Given the description of an element on the screen output the (x, y) to click on. 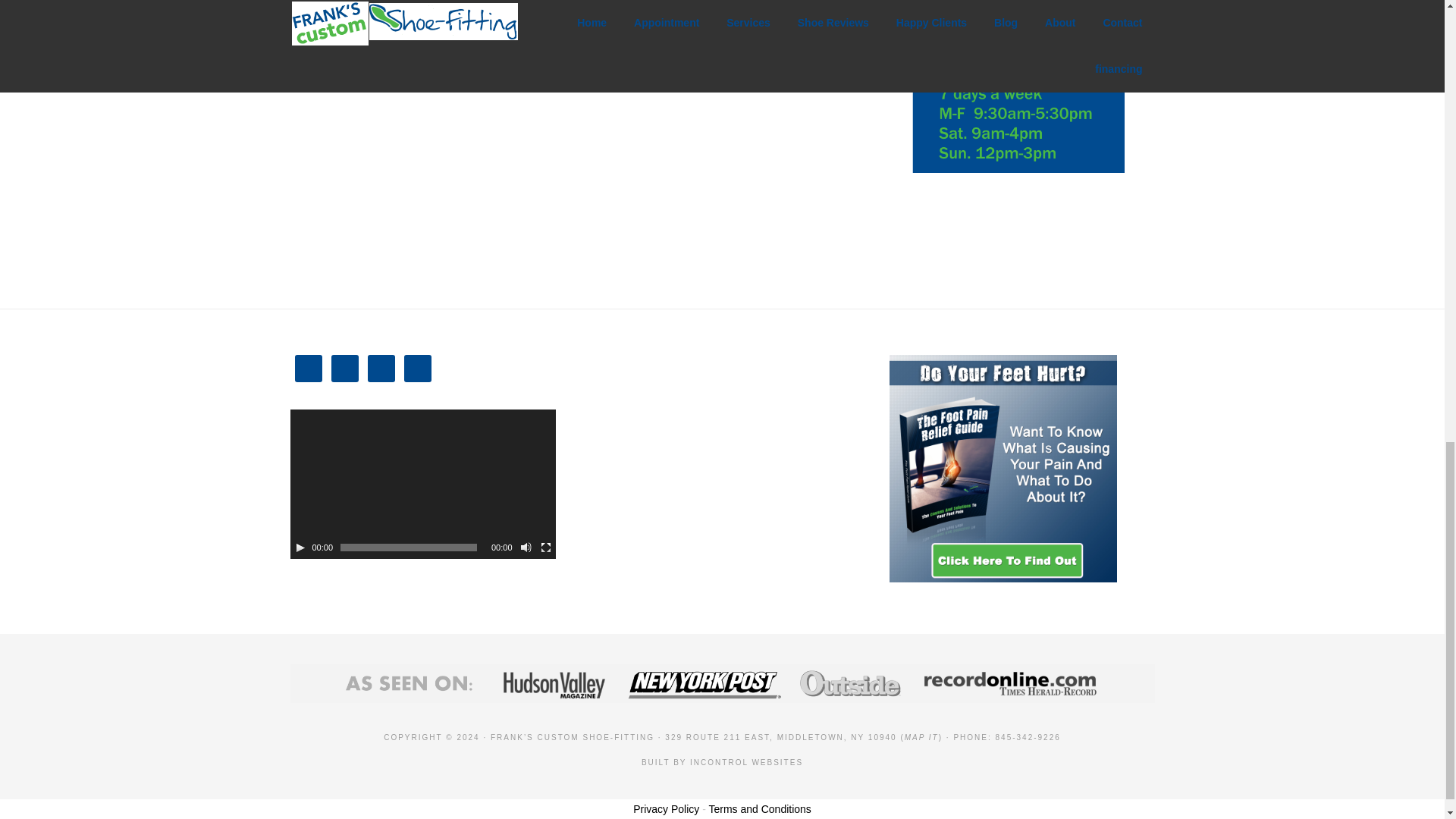
Fullscreen (545, 547)
INCONTROL WEBSITES (746, 762)
Mute (525, 547)
Play (299, 547)
MAP IT (921, 737)
